Given the description of an element on the screen output the (x, y) to click on. 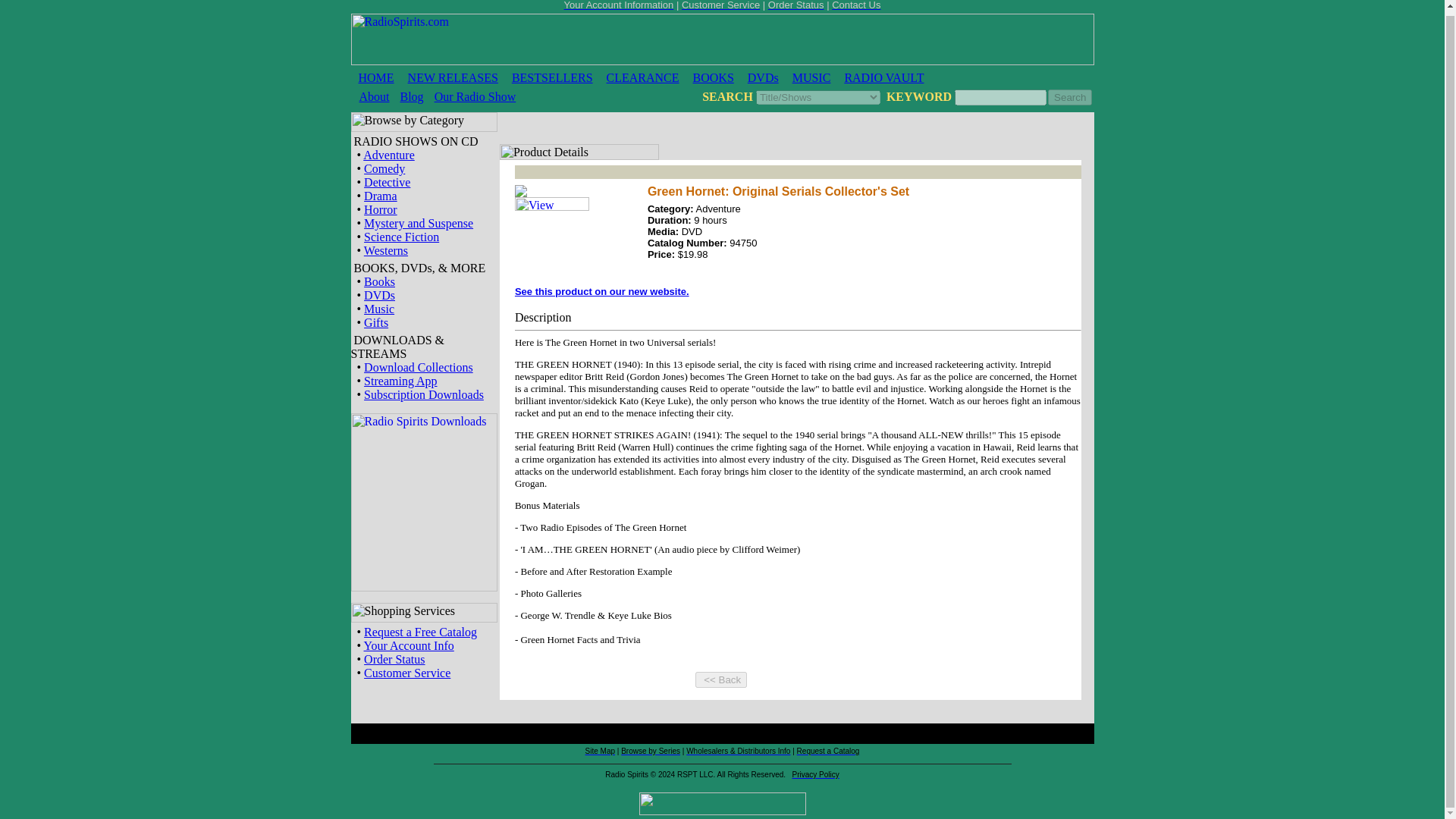
Streaming App (400, 380)
Request a Free Catalog (420, 631)
Comedy (384, 168)
Search (1070, 97)
See this product on our new website. (601, 290)
DVDs (763, 77)
HOME (375, 77)
About (374, 96)
Mystery and Suspense (418, 223)
Books (379, 281)
Your Account Info (409, 645)
MUSIC (811, 77)
Search (1070, 97)
RADIO VAULT (883, 77)
CLEARANCE (643, 77)
